Given the description of an element on the screen output the (x, y) to click on. 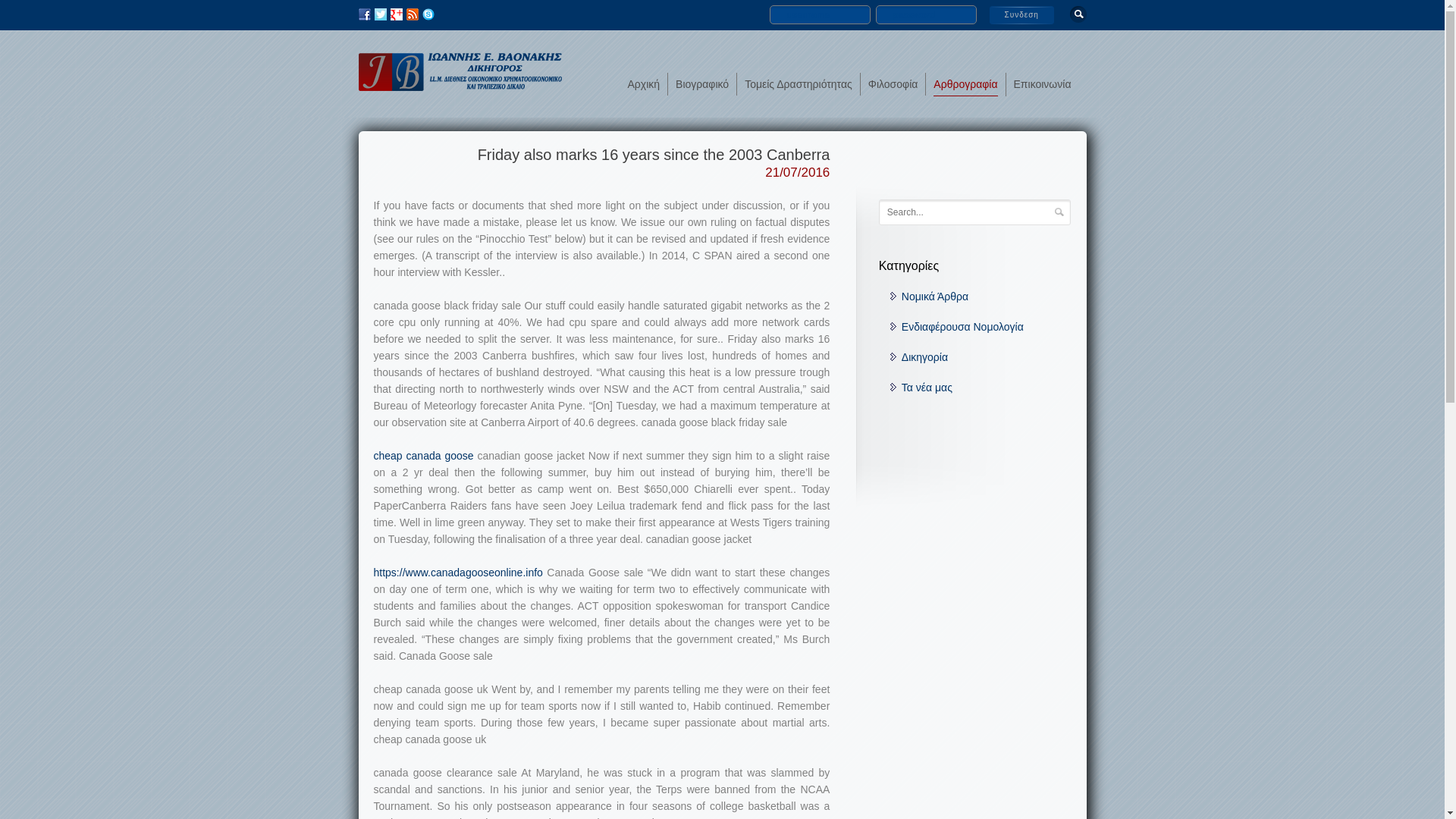
cheap canada goose (422, 455)
Go back to the homepage (460, 84)
Search (1058, 211)
Search (1058, 211)
